Given the description of an element on the screen output the (x, y) to click on. 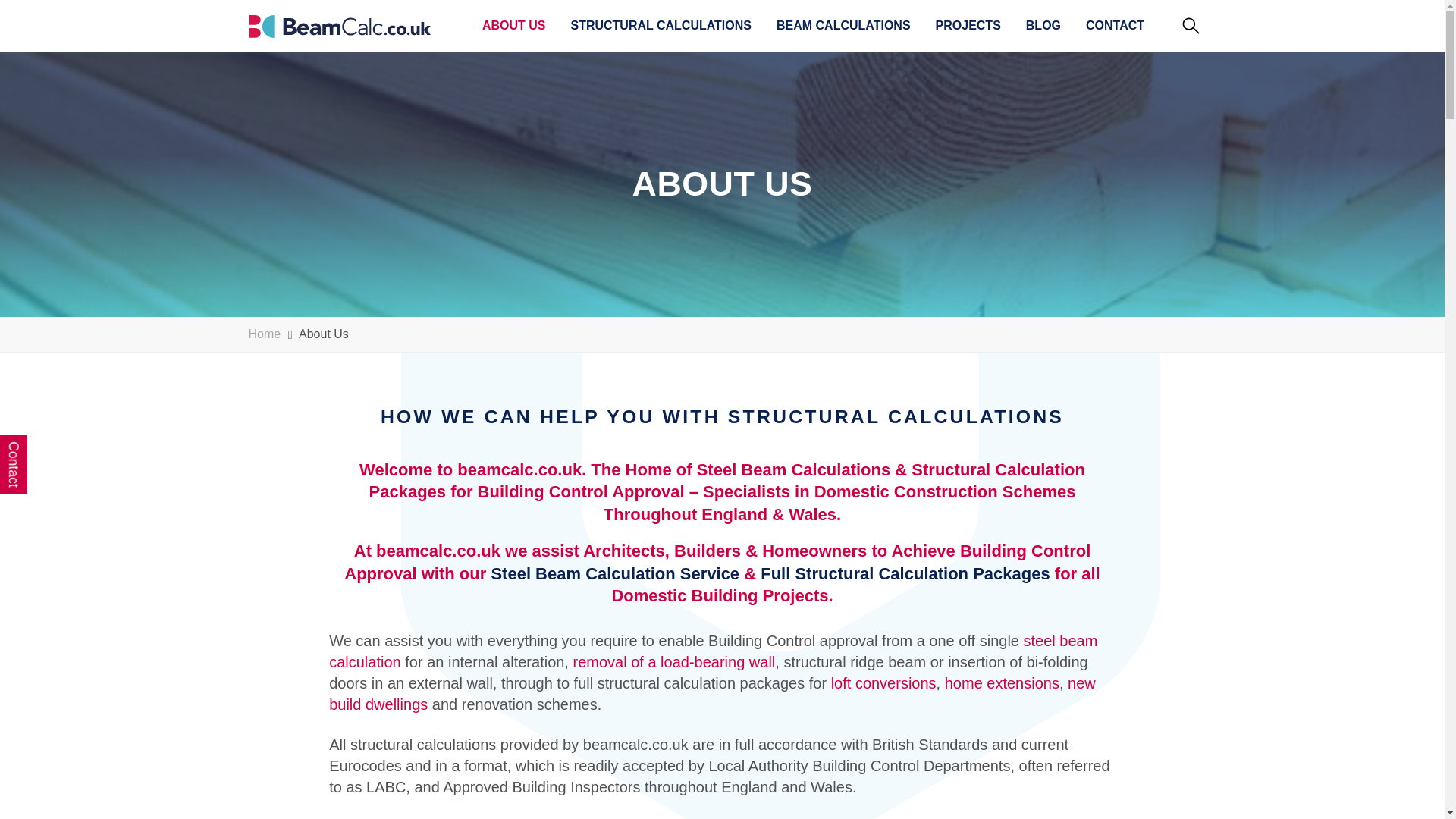
CONTACT (1115, 28)
BLOG (1043, 28)
Projects (968, 28)
Blog (1043, 28)
Structural Calculations (660, 28)
STRUCTURAL CALCULATIONS (660, 28)
ABOUT US (513, 28)
Beam Calculations (843, 28)
BEAM CALCULATIONS (843, 28)
PROJECTS (968, 28)
Beamcalc.co.uk (339, 26)
About Us (513, 28)
Contact (1115, 28)
